Given the description of an element on the screen output the (x, y) to click on. 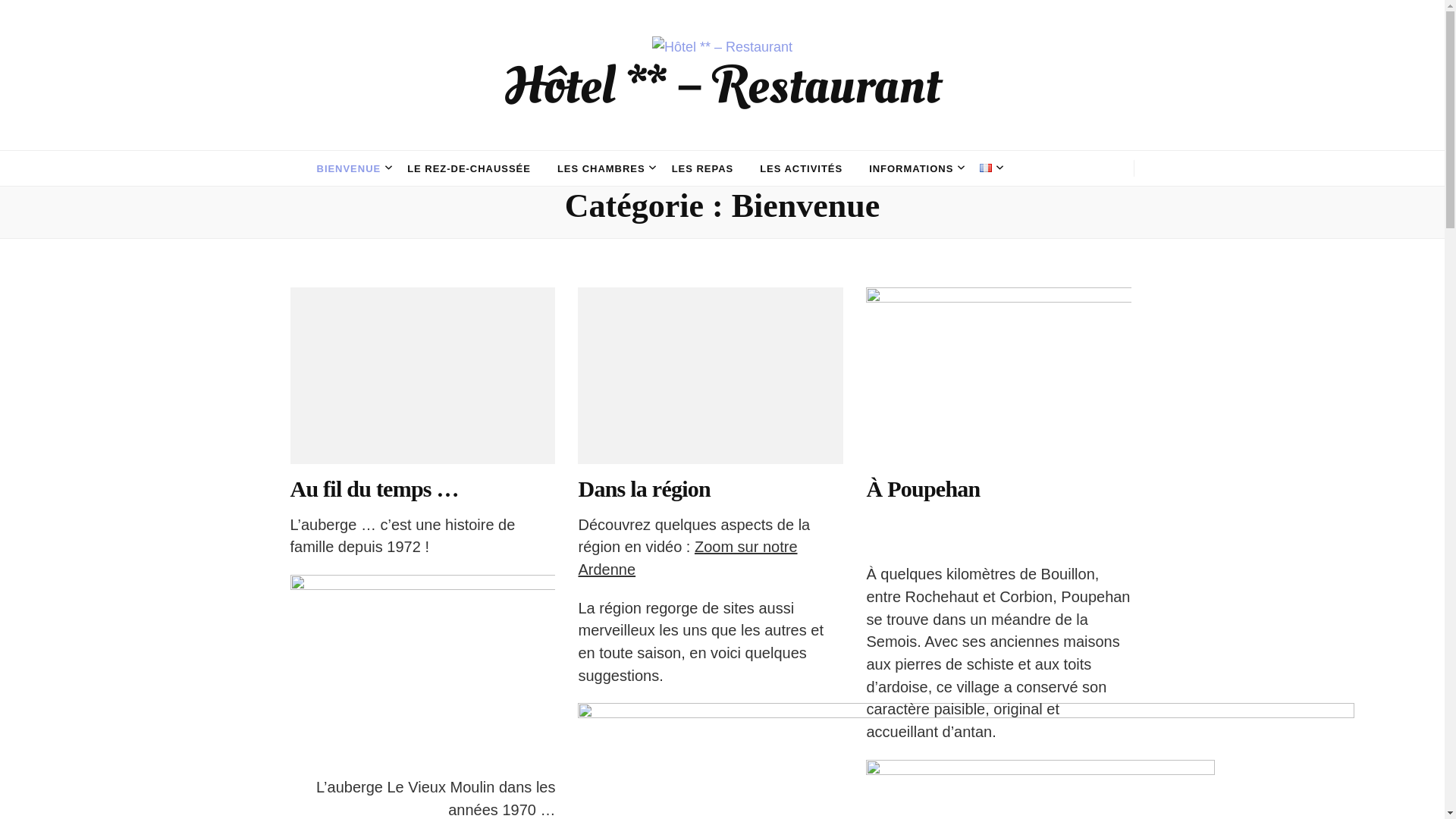
INFORMATIONS Element type: text (911, 168)
LES REPAS Element type: text (702, 168)
LES CHAMBRES Element type: text (601, 168)
BIENVENUE Element type: text (348, 168)
Zoom sur notre Ardenne Element type: text (687, 557)
